Given the description of an element on the screen output the (x, y) to click on. 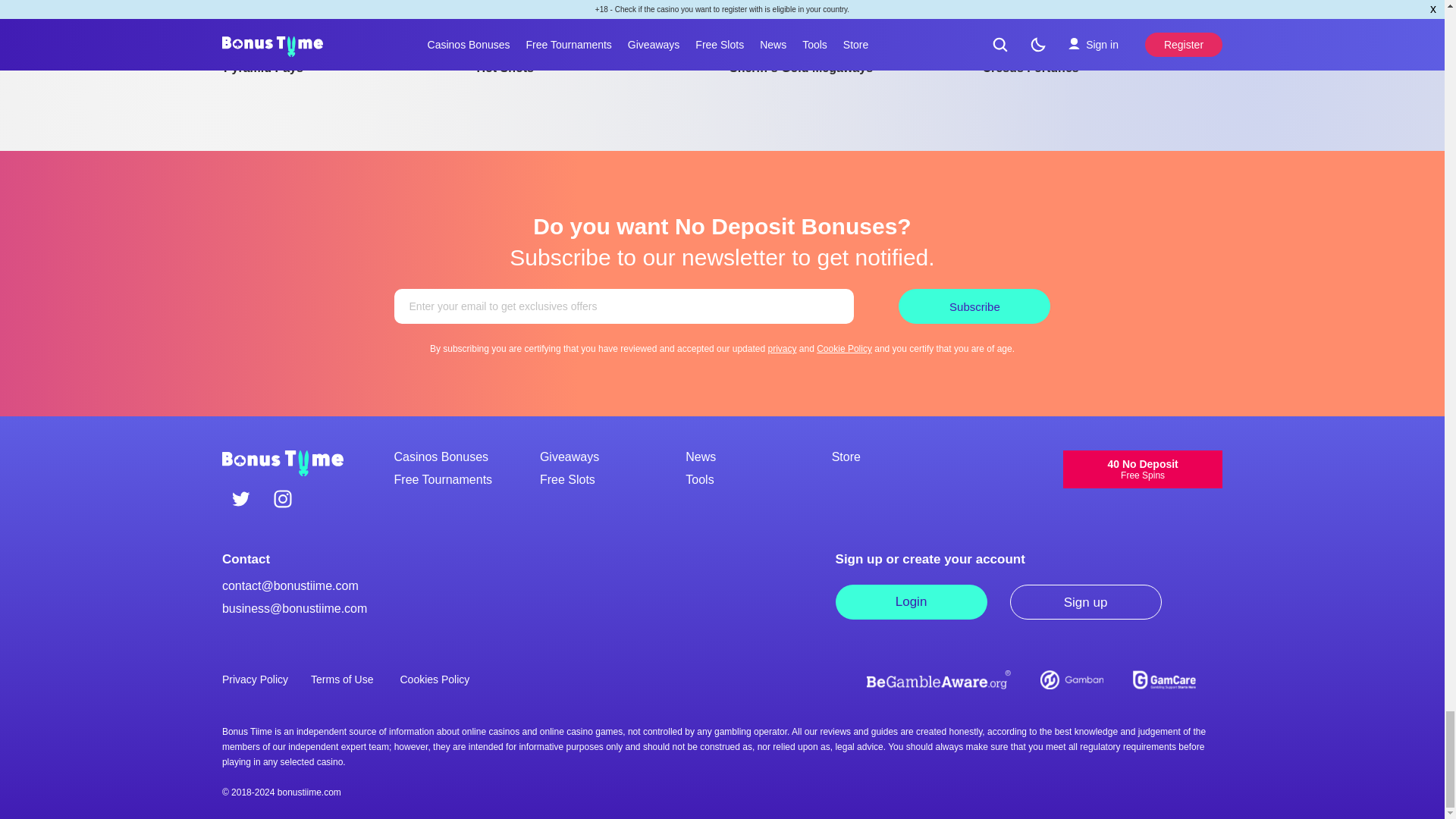
Twitter (241, 499)
Subscribe (973, 306)
Instagram (282, 499)
